Given the description of an element on the screen output the (x, y) to click on. 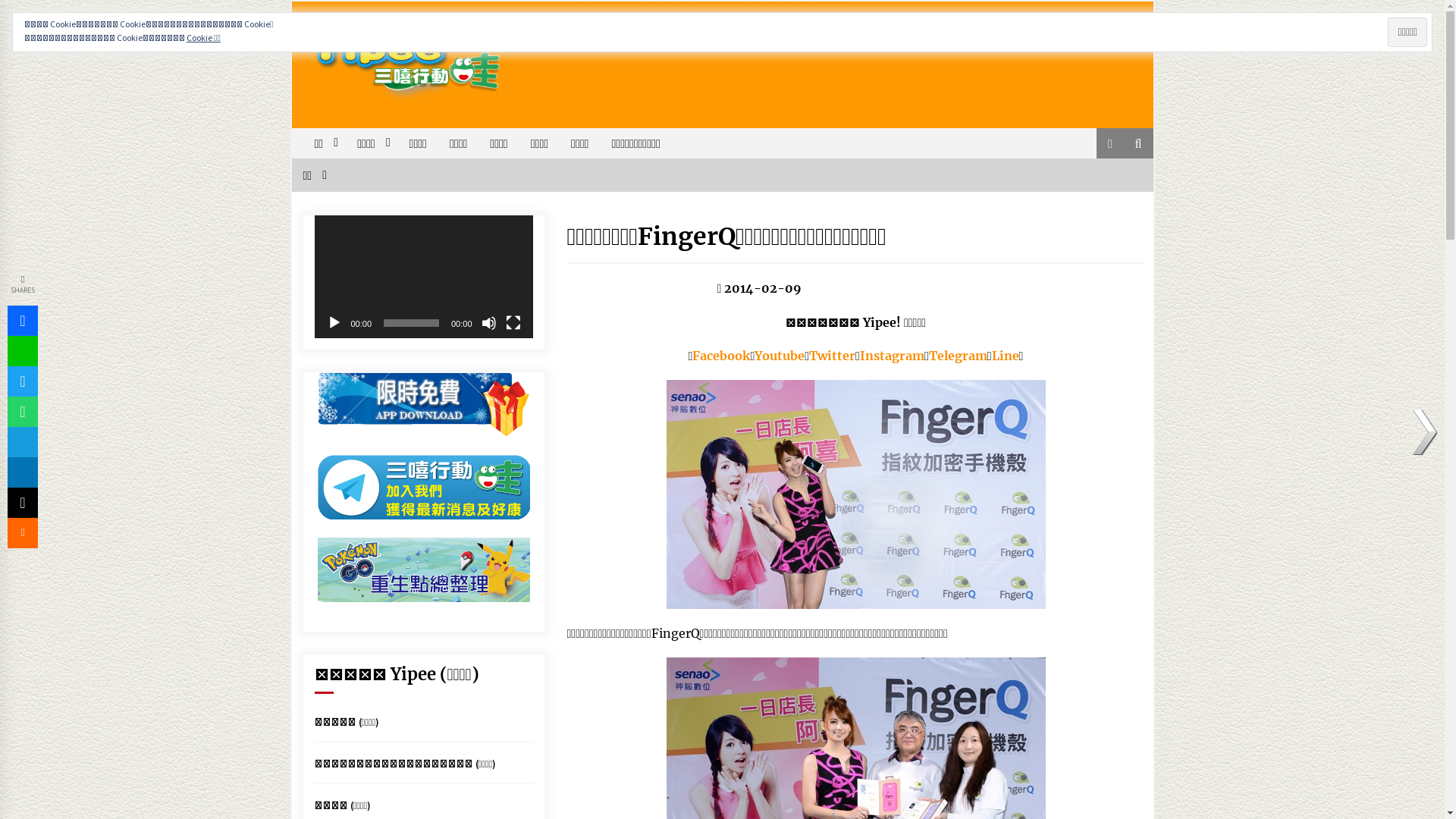
Email this  Element type: hover (22, 502)
Facebook Element type: text (720, 355)
Add this to LinkedIn Element type: hover (22, 472)
Share this on Facebook Element type: hover (22, 320)
Tweet this ! Element type: hover (22, 381)
Line Element type: hover (22, 350)
Telegram Element type: text (957, 355)
Instagram Element type: text (891, 355)
Line Element type: text (1005, 355)
Youtube Element type: text (779, 355)
More share links Element type: hover (22, 532)
WhatsApp Element type: hover (22, 411)
Twitter Element type: text (832, 355)
Telegram Element type: hover (22, 441)
